Given the description of an element on the screen output the (x, y) to click on. 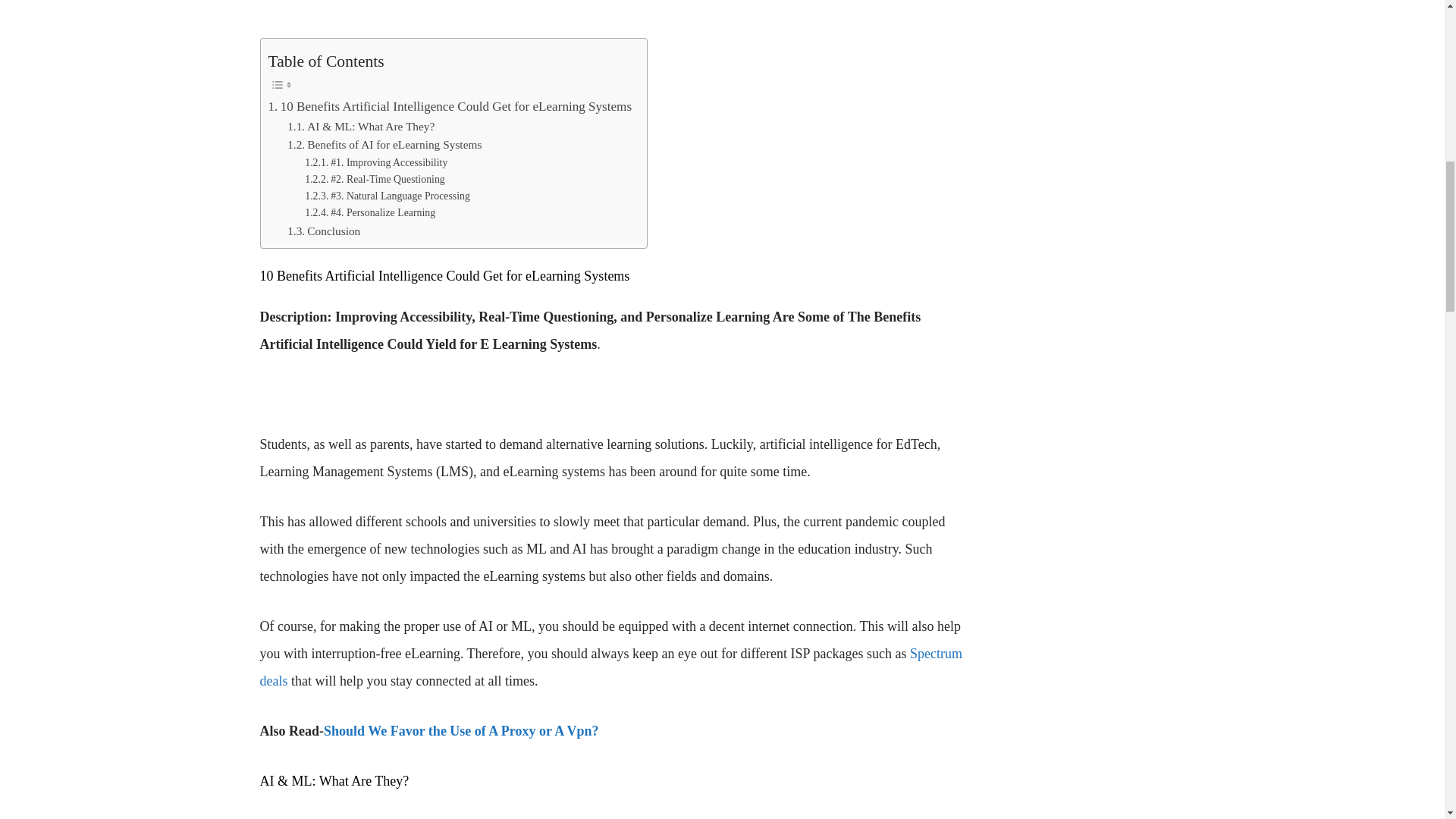
Should We Favor the Use of A Proxy or A Vpn? (460, 730)
Spectrum deals (609, 667)
Benefits of AI for eLearning Systems (383, 144)
Benefits of AI for eLearning Systems (383, 144)
Conclusion (322, 230)
Conclusion (322, 230)
